Given the description of an element on the screen output the (x, y) to click on. 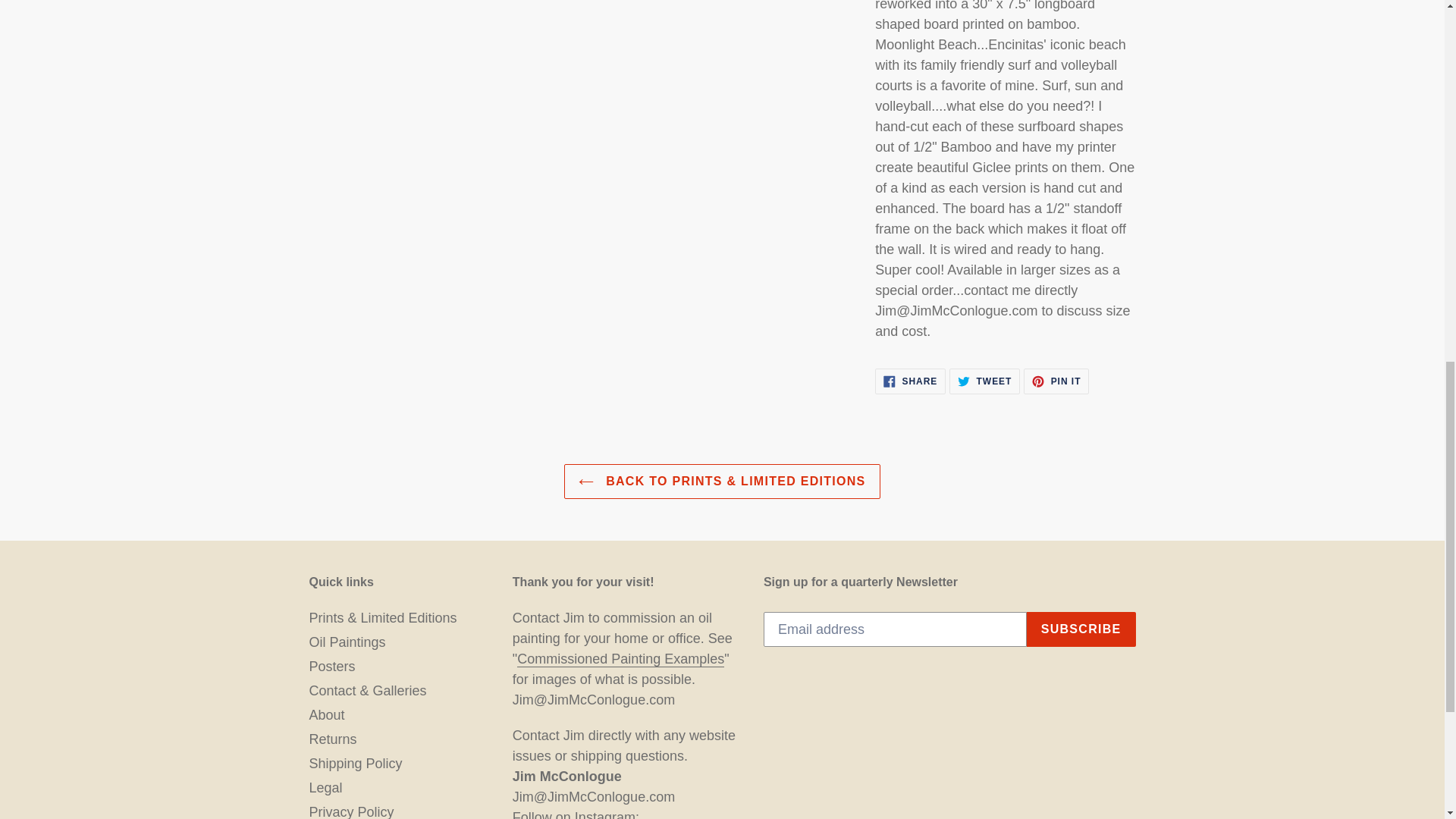
Commissioned Painting Examples (909, 380)
